Given the description of an element on the screen output the (x, y) to click on. 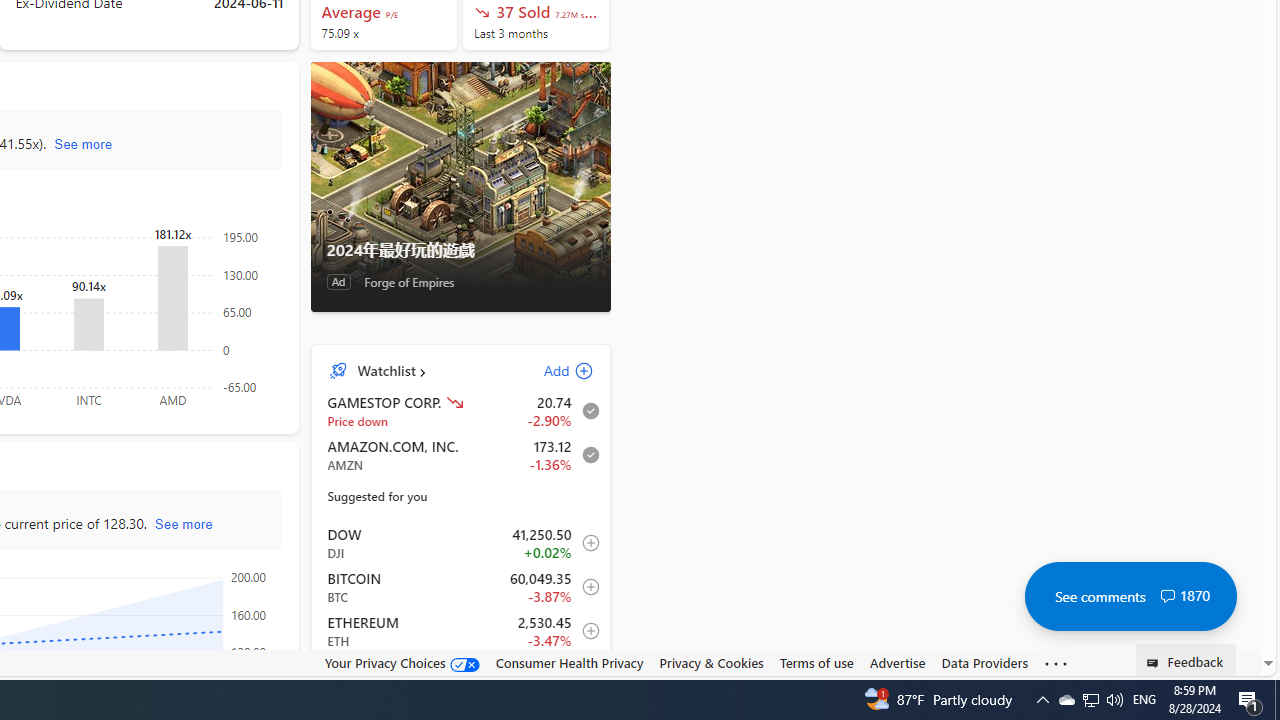
Add (551, 370)
Consumer Health Privacy (569, 662)
DJI DOW increase 41,250.50 +9.98 +0.02% item0 (461, 543)
Data Providers (983, 662)
Your Privacy Choices (401, 663)
Consumer Health Privacy (569, 663)
Privacy & Cookies (711, 662)
Data Providers (983, 663)
Add to Watchlist (585, 674)
Advertise (897, 662)
Class: oneFooter_seeMore-DS-EntryPoint1-1 (1055, 663)
See comments 1870 (1130, 596)
